Given the description of an element on the screen output the (x, y) to click on. 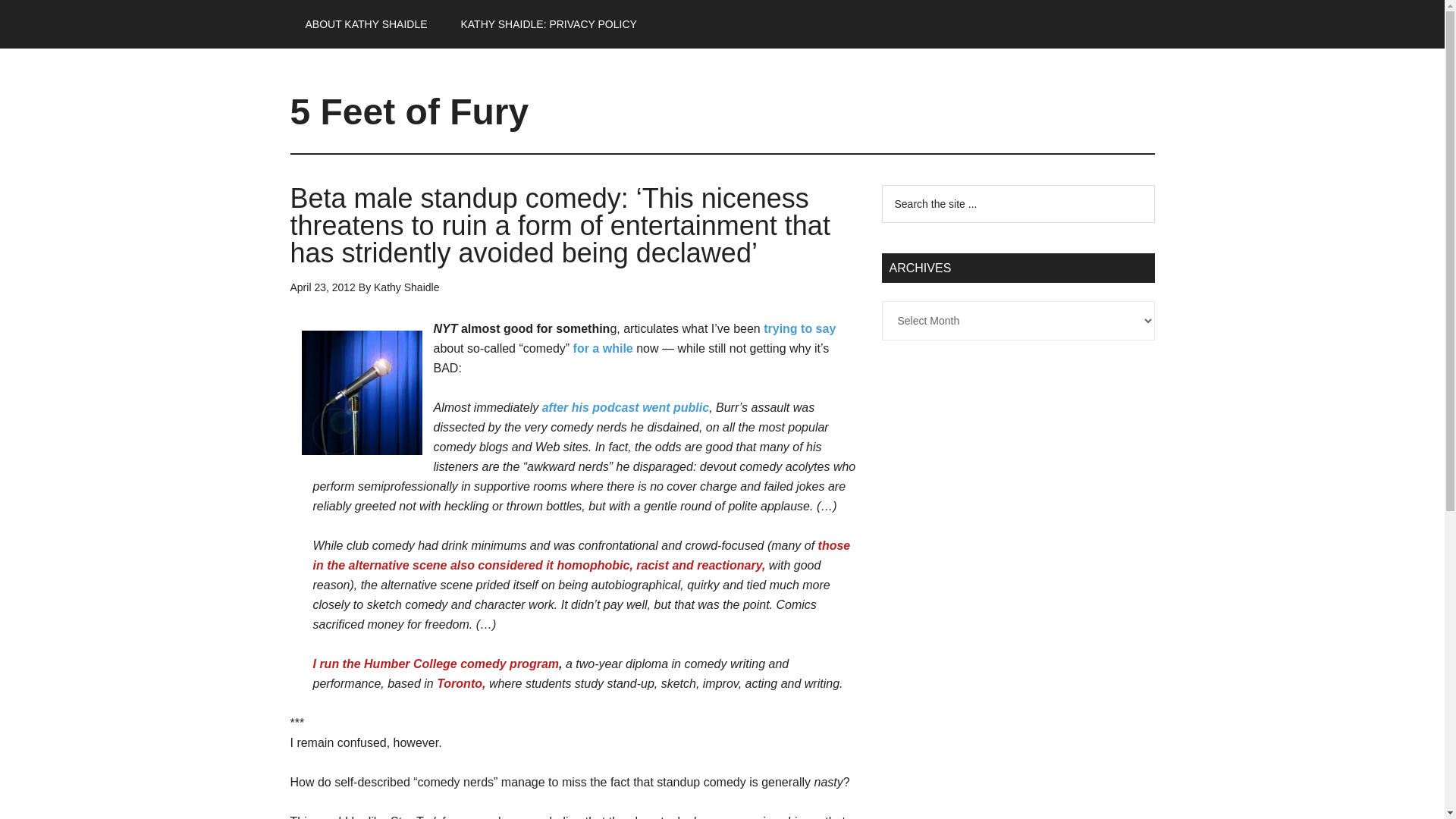
ABOUT KATHY SHAIDLE (365, 24)
Kathy Shaidle (406, 287)
for a while (603, 348)
5 Feet of Fury (408, 111)
after his podcast went public (625, 407)
KATHY SHAIDLE: PRIVACY POLICY (547, 24)
trying to say (798, 328)
